Given the description of an element on the screen output the (x, y) to click on. 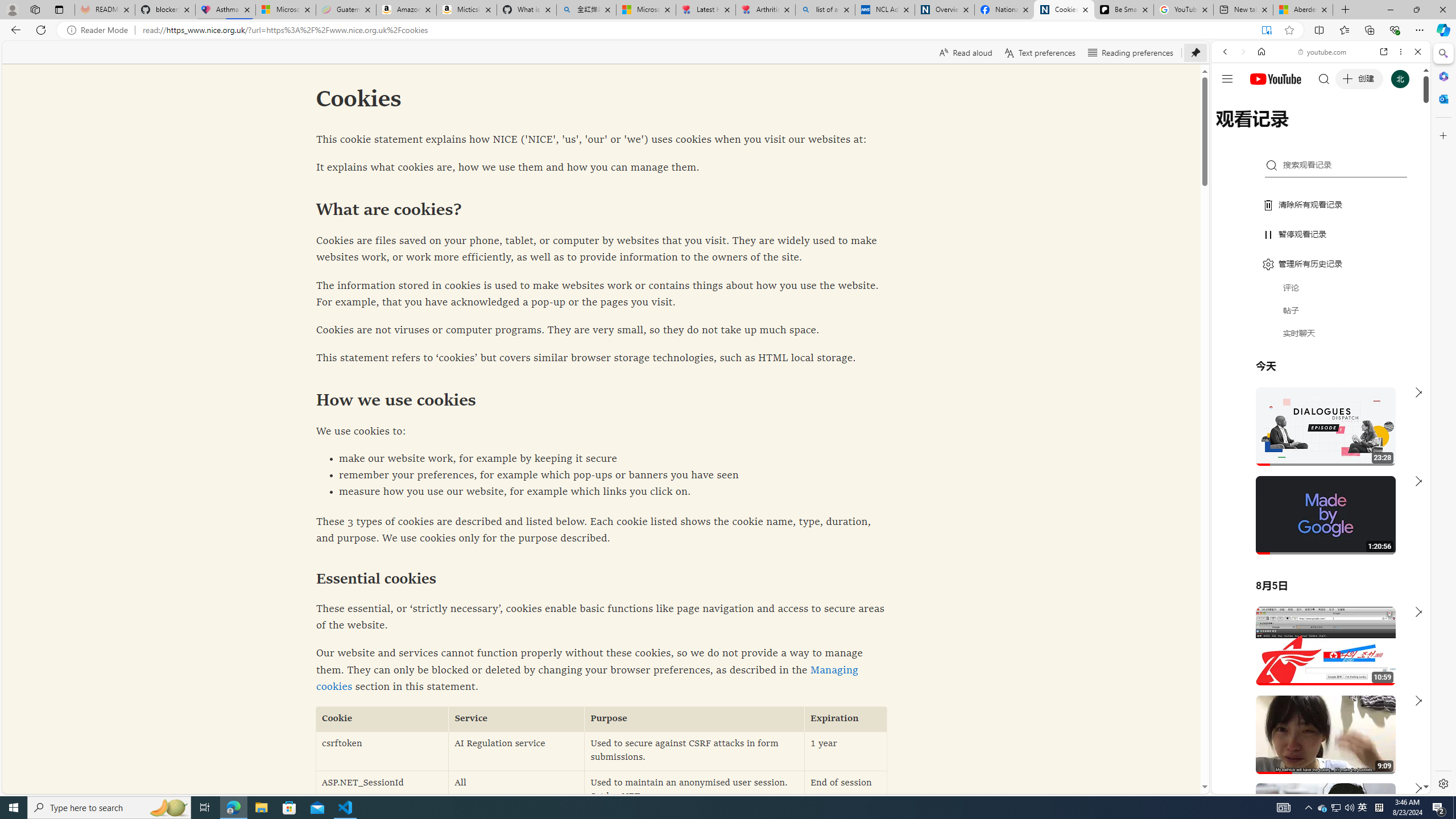
Text preferences (1039, 52)
